Given the description of an element on the screen output the (x, y) to click on. 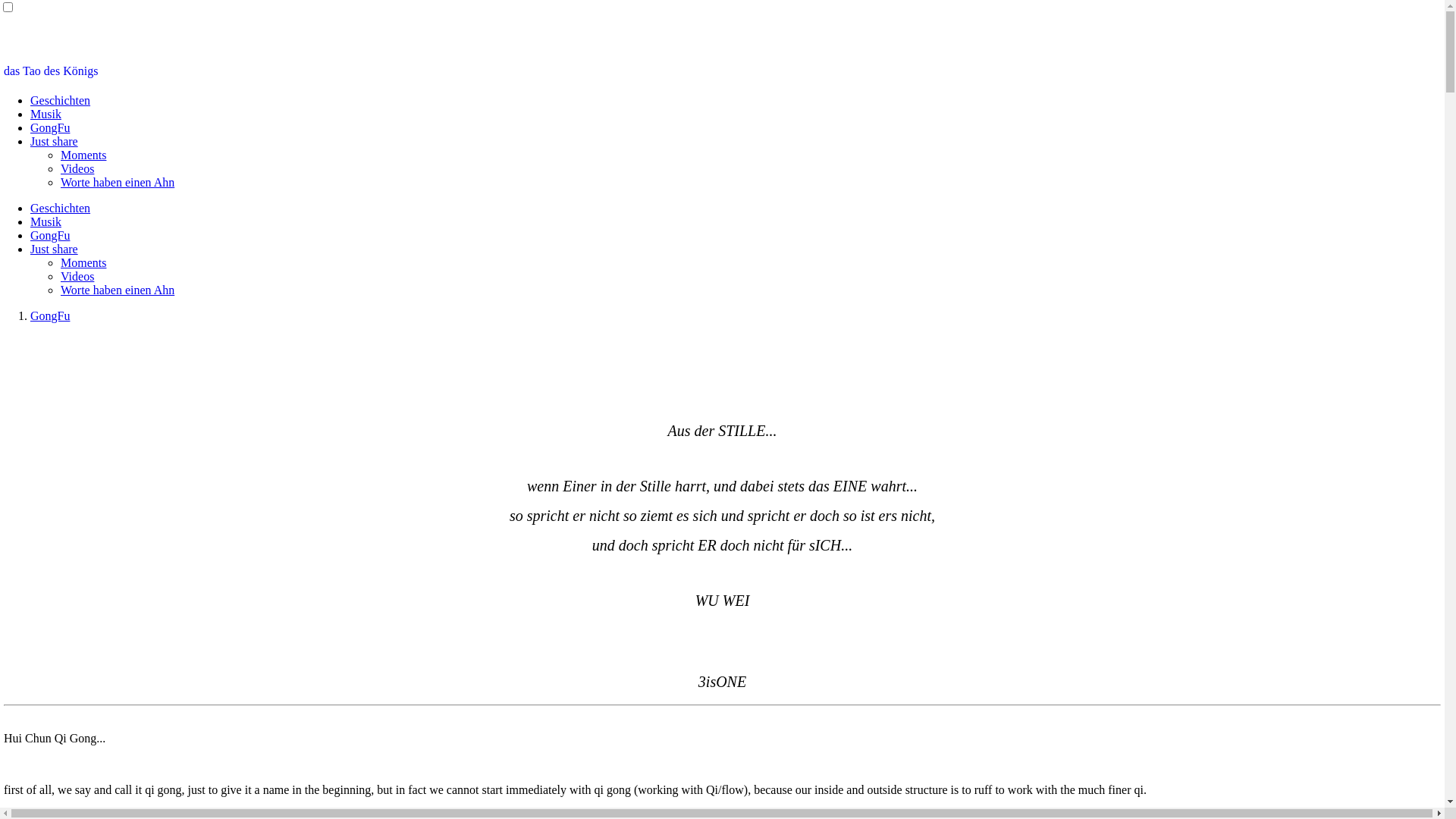
Videos Element type: text (77, 168)
GongFu Element type: text (49, 315)
Moments Element type: text (83, 262)
Moments Element type: text (83, 154)
GongFu Element type: text (49, 127)
Just share Element type: text (54, 248)
Worte haben einen Ahn Element type: text (117, 181)
Musik Element type: text (45, 113)
GongFu Element type: text (49, 235)
Musik Element type: text (45, 221)
Geschichten Element type: text (60, 207)
Videos Element type: text (77, 275)
Just share Element type: text (54, 140)
Worte haben einen Ahn Element type: text (117, 289)
Geschichten Element type: text (60, 100)
